Given the description of an element on the screen output the (x, y) to click on. 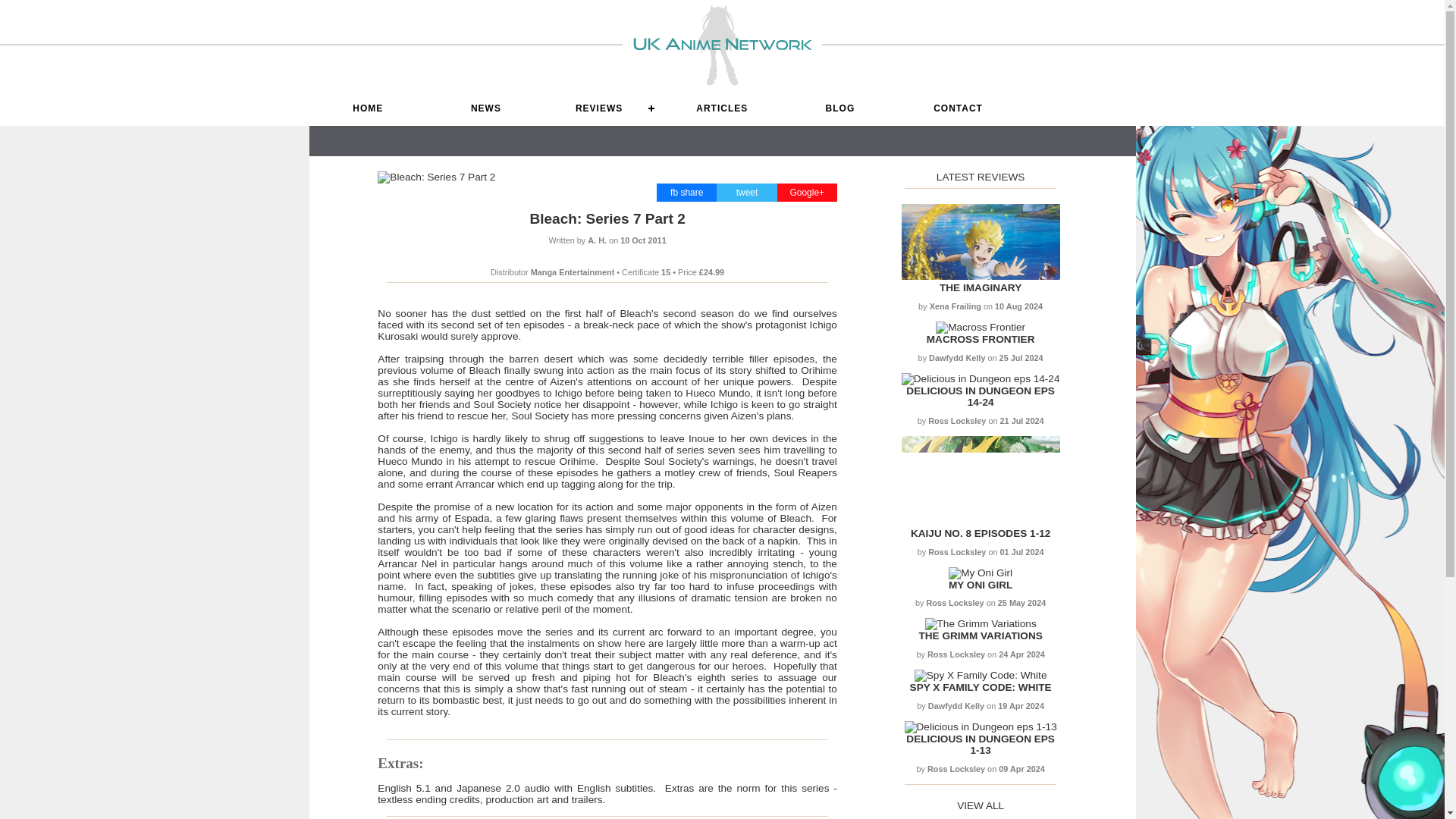
NEWS (485, 108)
KAIJU NO. 8 EPISODES 1-12 (980, 532)
REVIEWS (603, 108)
DELICIOUS IN DUNGEON EPS 1-13 (979, 744)
Delicious in Dungeon eps 14-24 (980, 378)
ARTICLES (721, 108)
The Imaginary (980, 287)
Delicious in Dungeon eps 14-24 (979, 395)
SPY X FAMILY CODE: WHITE (980, 686)
Delicious in Dungeon eps 1-13 (979, 744)
